Given the description of an element on the screen output the (x, y) to click on. 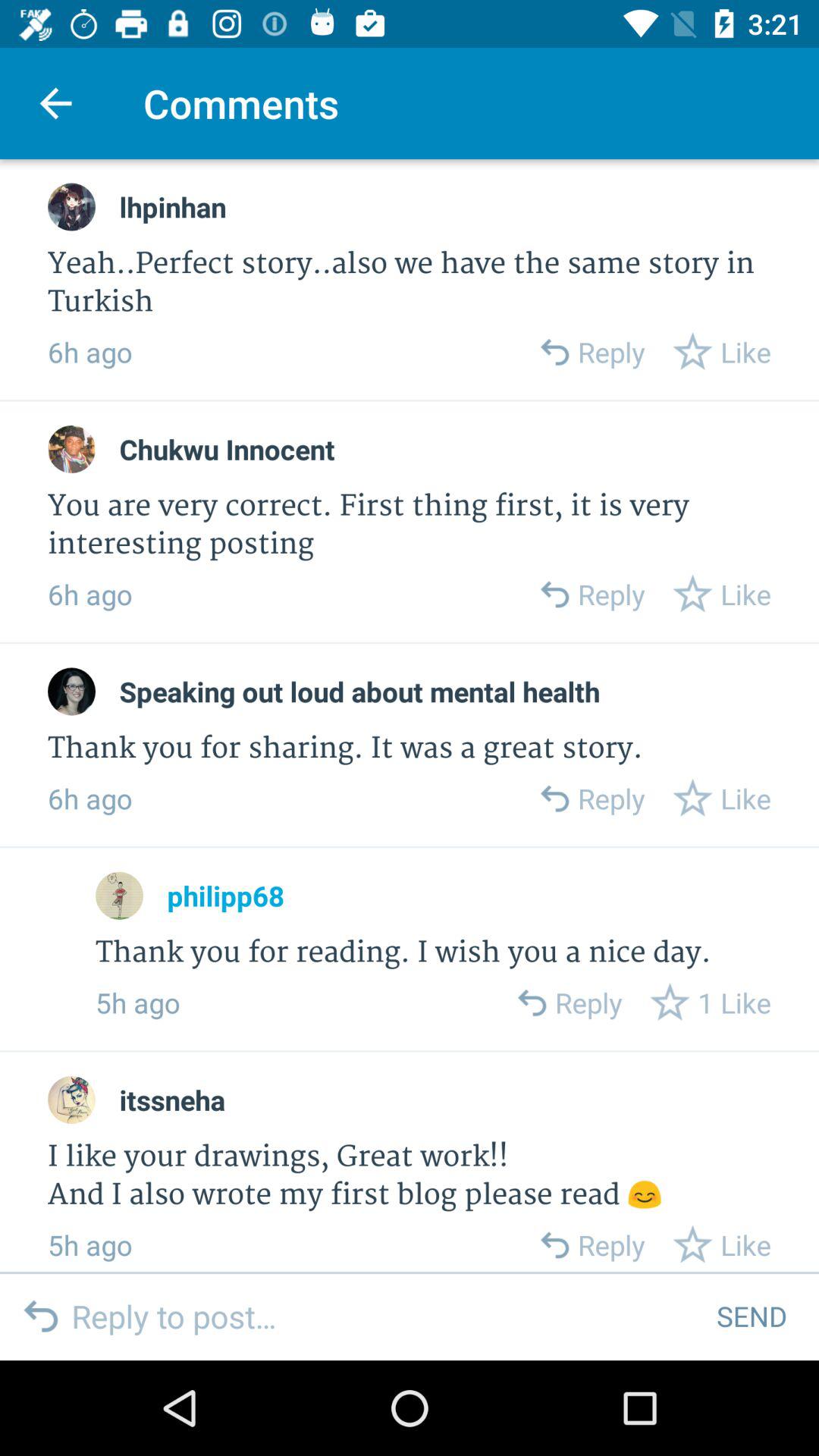
swipe to the yeah perfect story icon (409, 283)
